Given the description of an element on the screen output the (x, y) to click on. 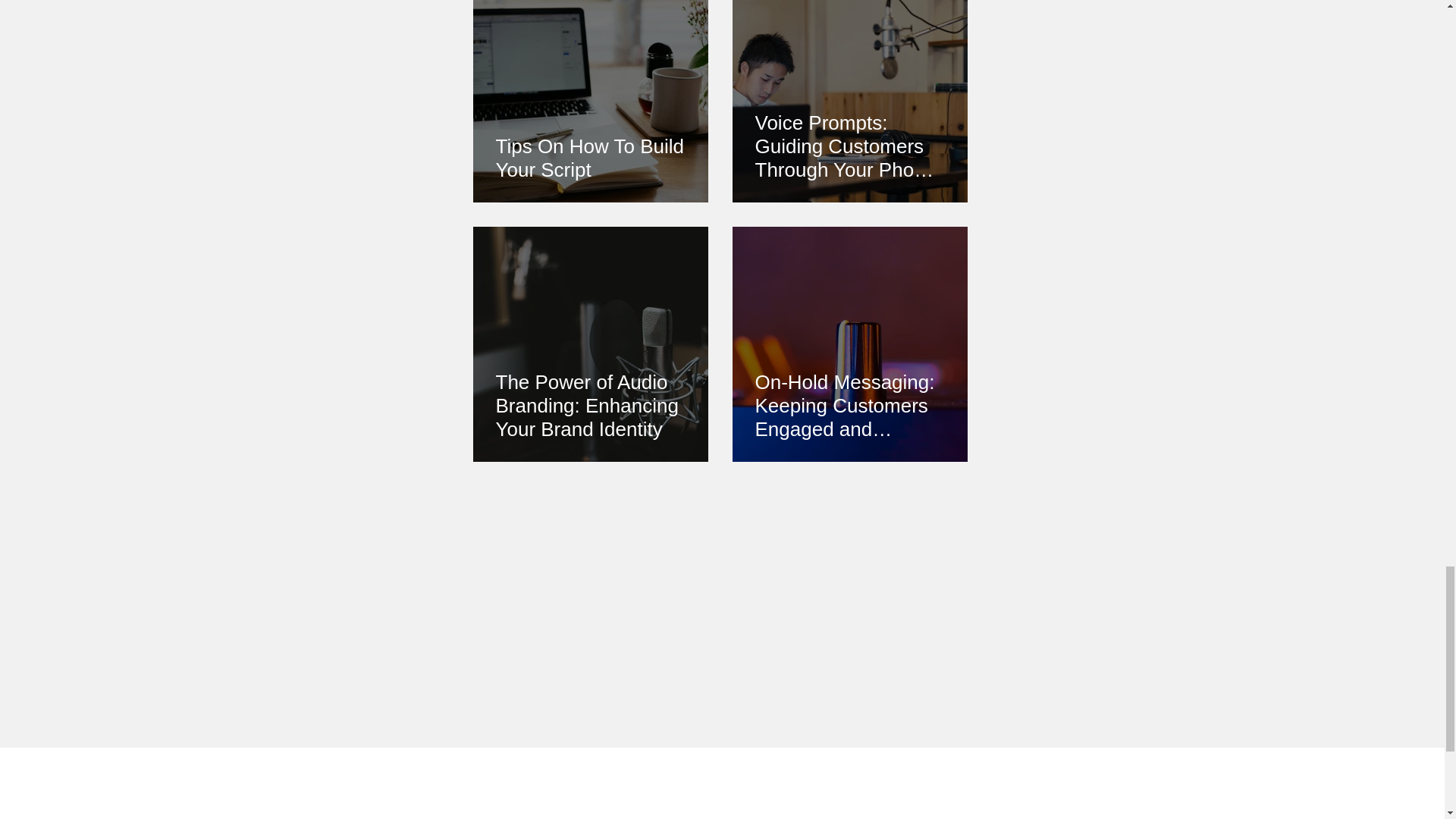
The Power of Audio Branding: Enhancing Your Brand Identity (590, 405)
Voice Prompts: Guiding Customers Through Your Phone System (849, 145)
Tips On How To Build Your Script (590, 157)
On-Hold Messaging: Keeping Customers Engaged and Informed (849, 405)
